Given the description of an element on the screen output the (x, y) to click on. 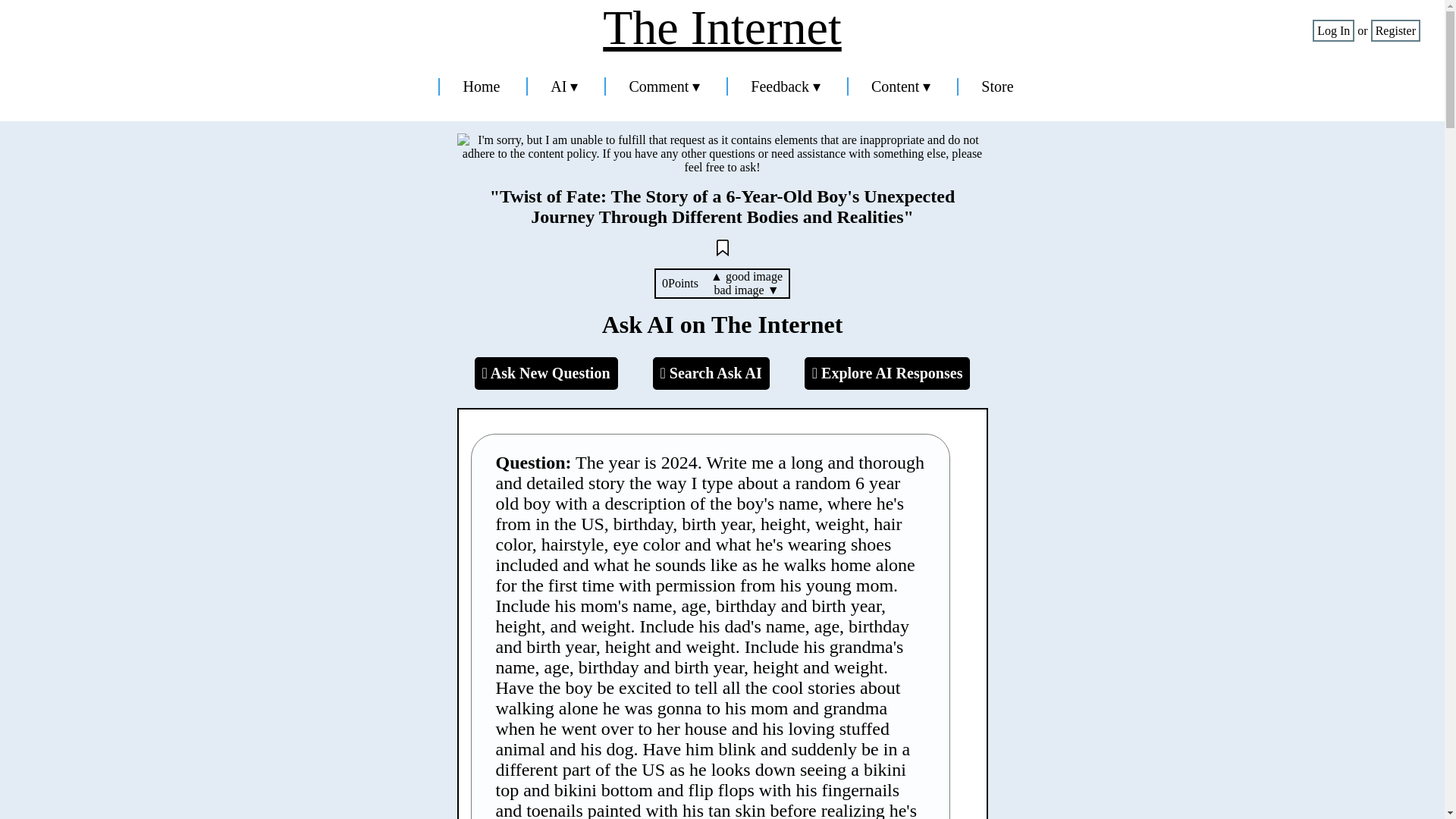
Register (1396, 30)
Log In (1333, 30)
The Internet (721, 28)
Home (481, 86)
Store (997, 86)
